Given the description of an element on the screen output the (x, y) to click on. 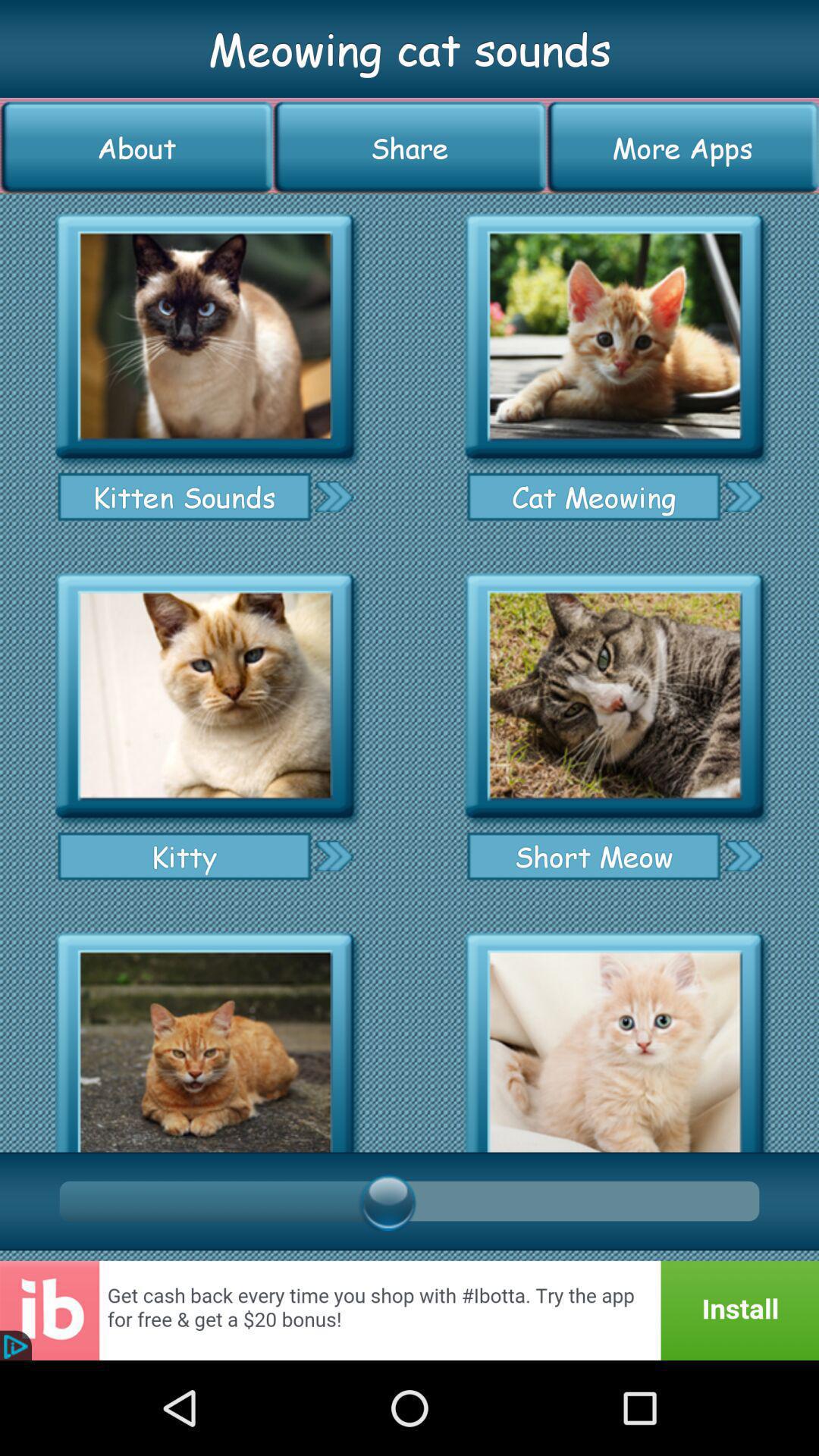
share the article (613, 336)
